Given the description of an element on the screen output the (x, y) to click on. 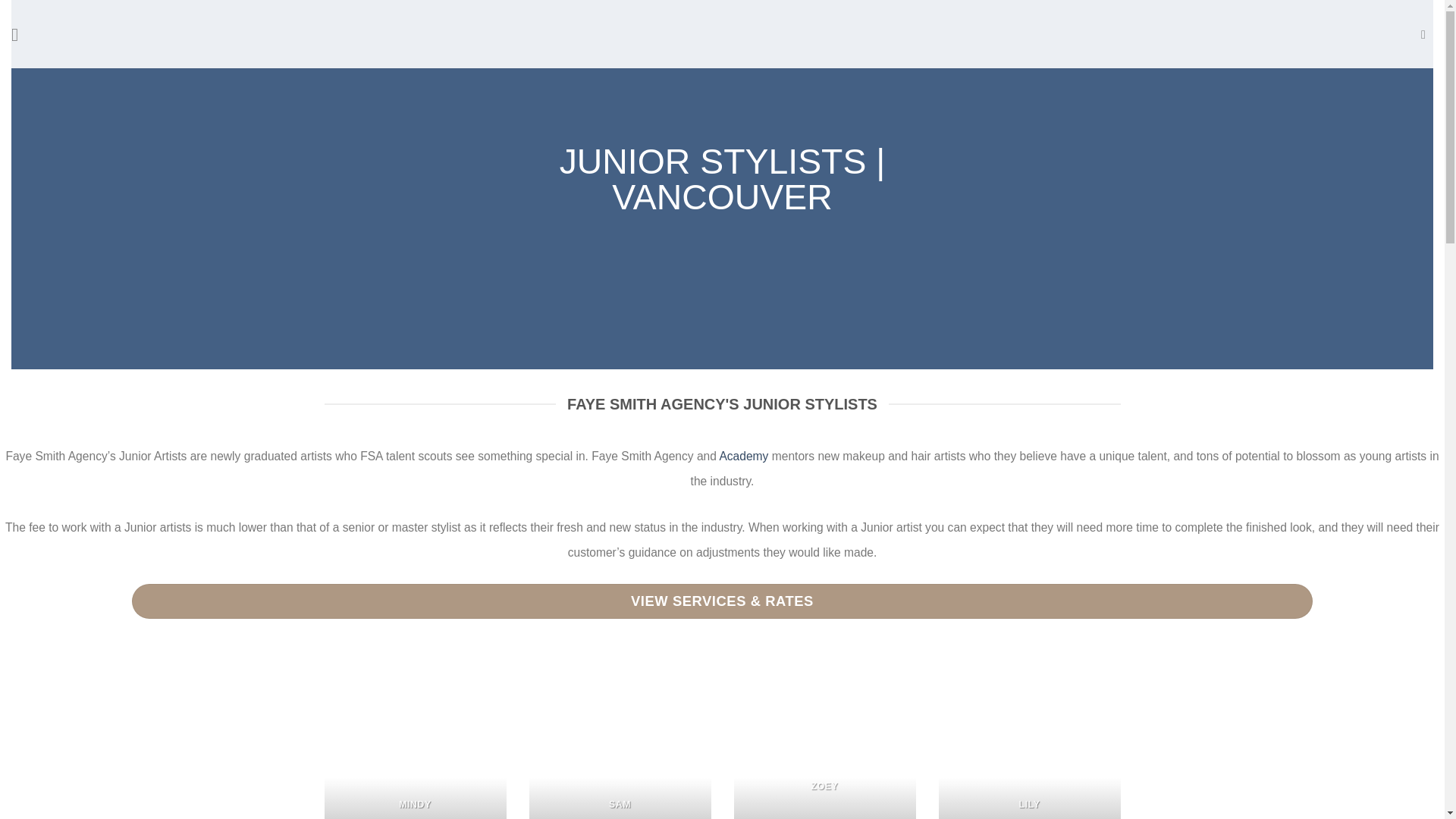
Academy (743, 455)
LILY (1030, 737)
Faye Smith Agency - Beauty. At it's best. (721, 33)
MINDY (415, 737)
ZOEY (824, 737)
SAM (620, 737)
